Given the description of an element on the screen output the (x, y) to click on. 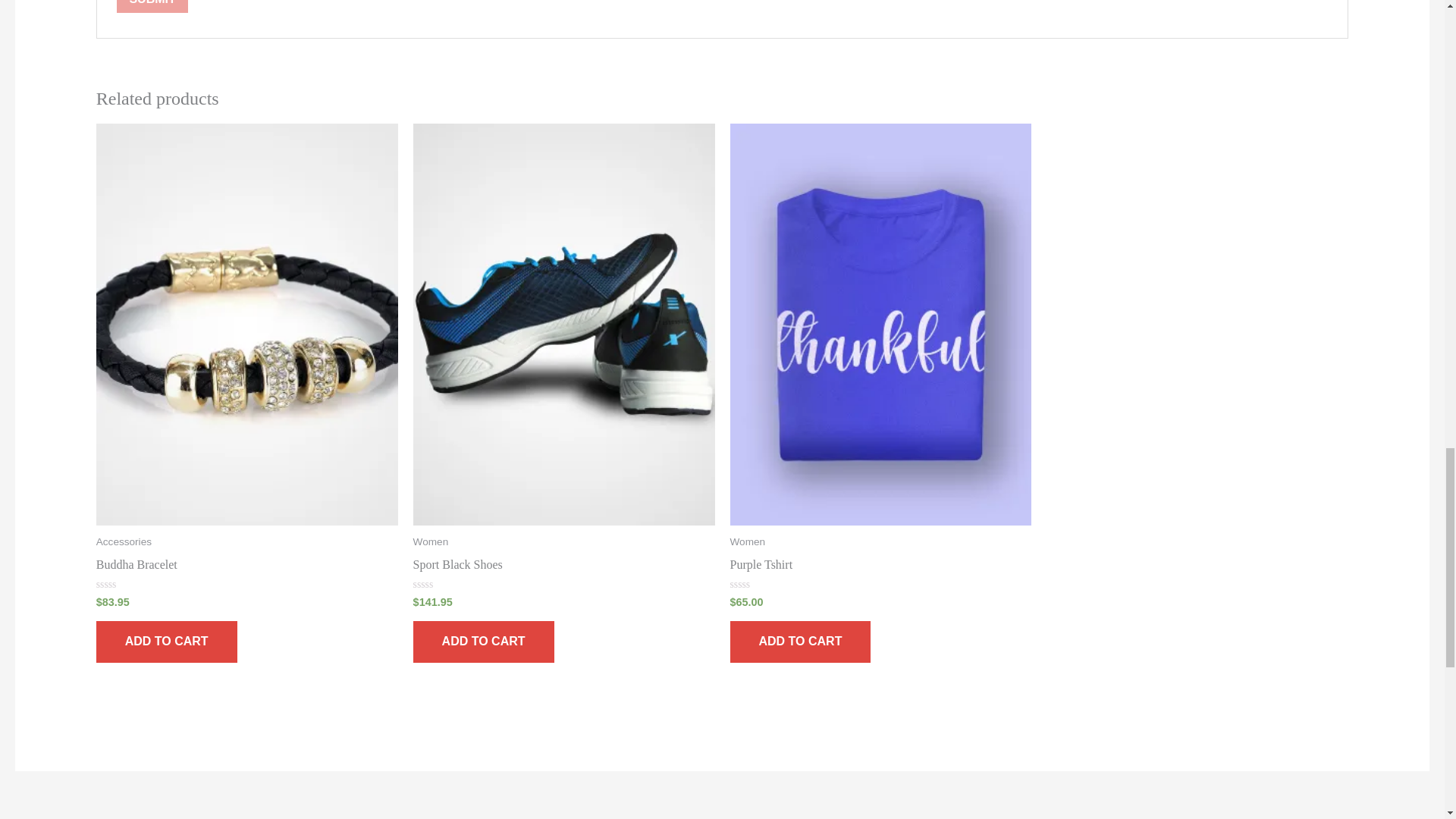
ADD TO CART (166, 641)
Submit (151, 6)
ADD TO CART (799, 641)
Purple Tshirt (879, 568)
Buddha Bracelet (246, 568)
Submit (151, 6)
ADD TO CART (483, 641)
Sport Black Shoes (563, 568)
